Given the description of an element on the screen output the (x, y) to click on. 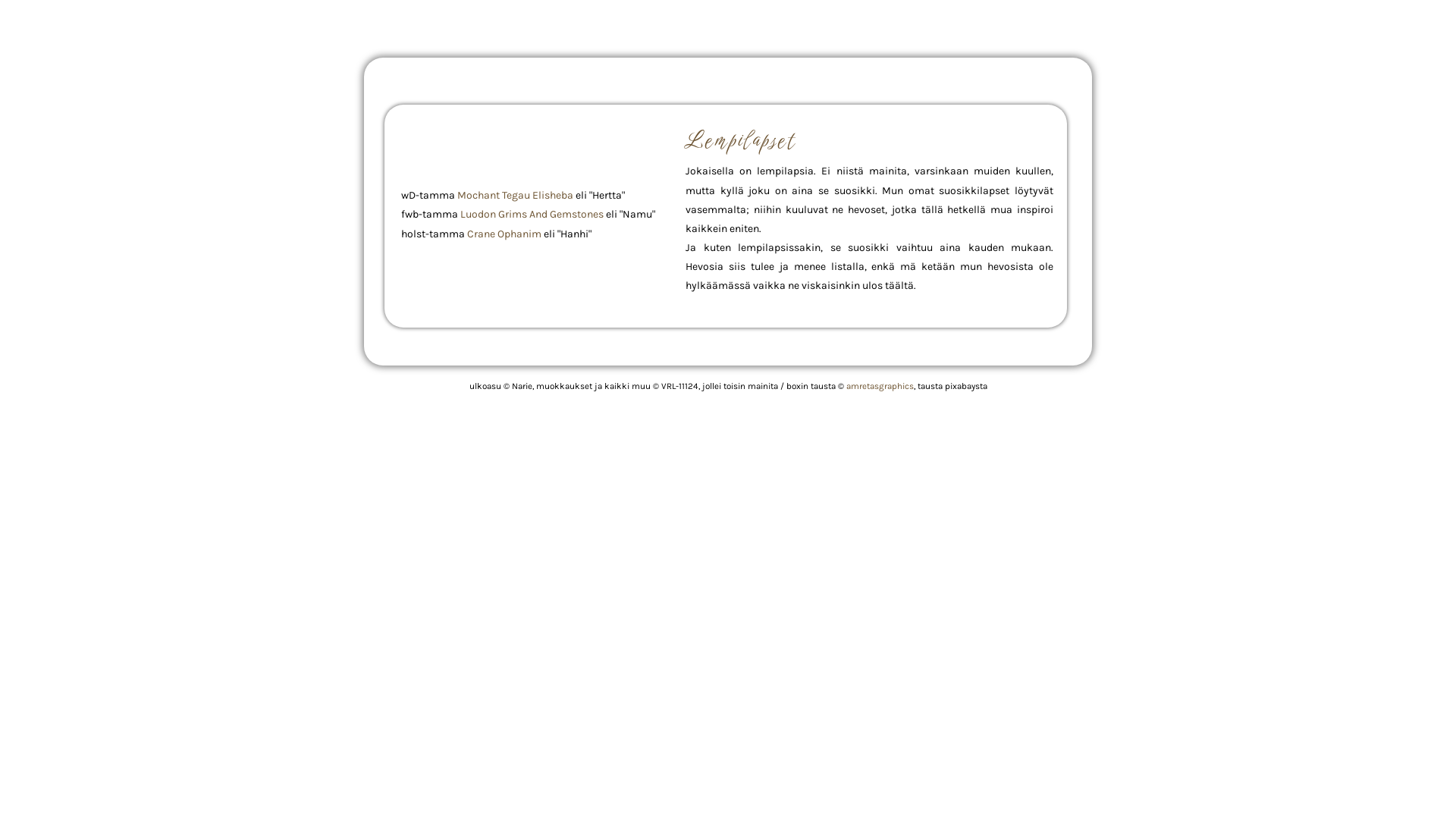
amretasgraphics Element type: text (879, 385)
Crane Ophanim Element type: text (504, 233)
Luodon Grims And Gemstones Element type: text (531, 213)
Mochant Tegau Elisheba Element type: text (515, 194)
